Given the description of an element on the screen output the (x, y) to click on. 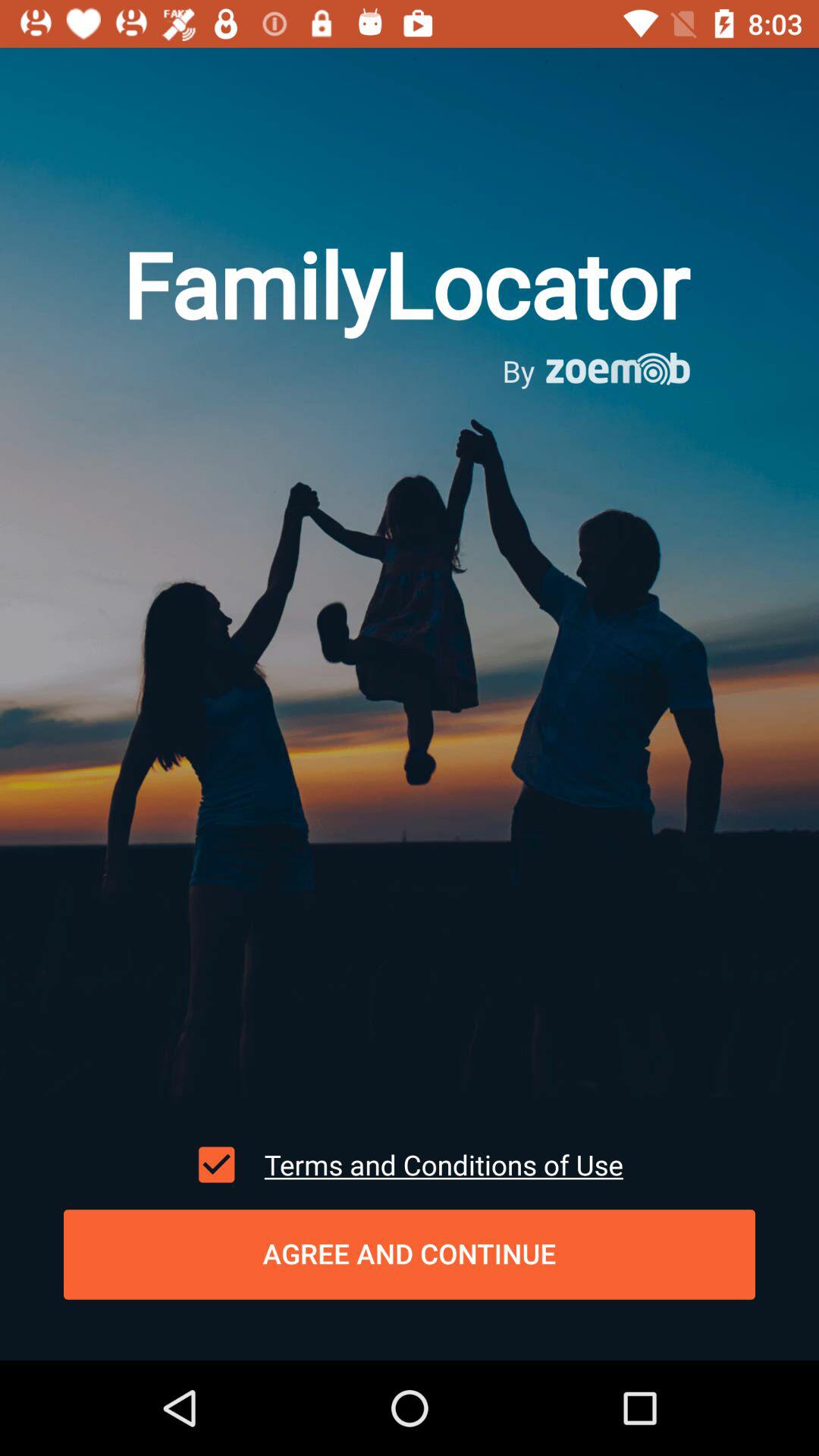
launch icon next to the terms and conditions icon (216, 1164)
